Given the description of an element on the screen output the (x, y) to click on. 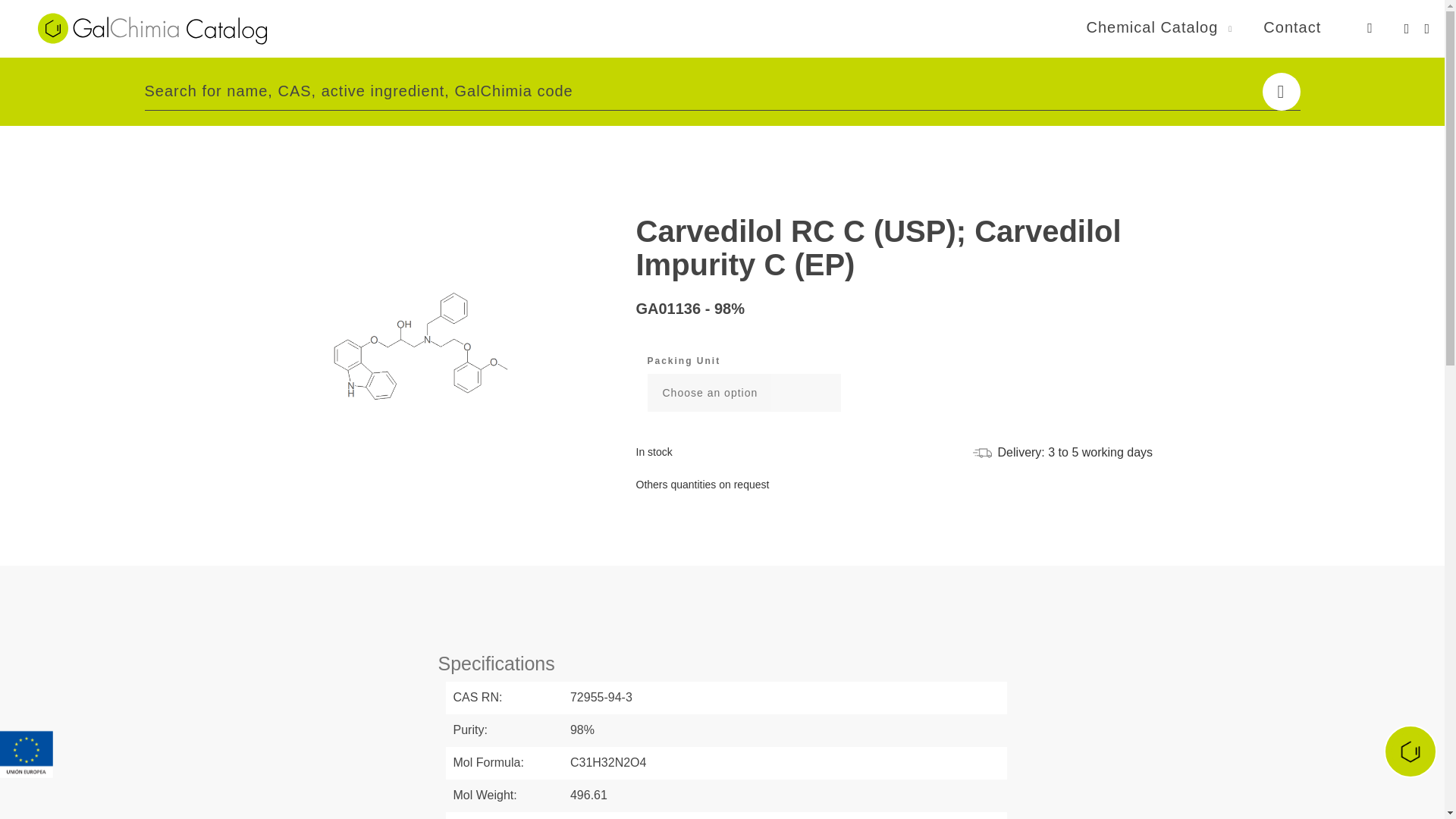
Contact (1291, 26)
Chemical Catalog (1151, 26)
Execute Search (1281, 91)
